Given the description of an element on the screen output the (x, y) to click on. 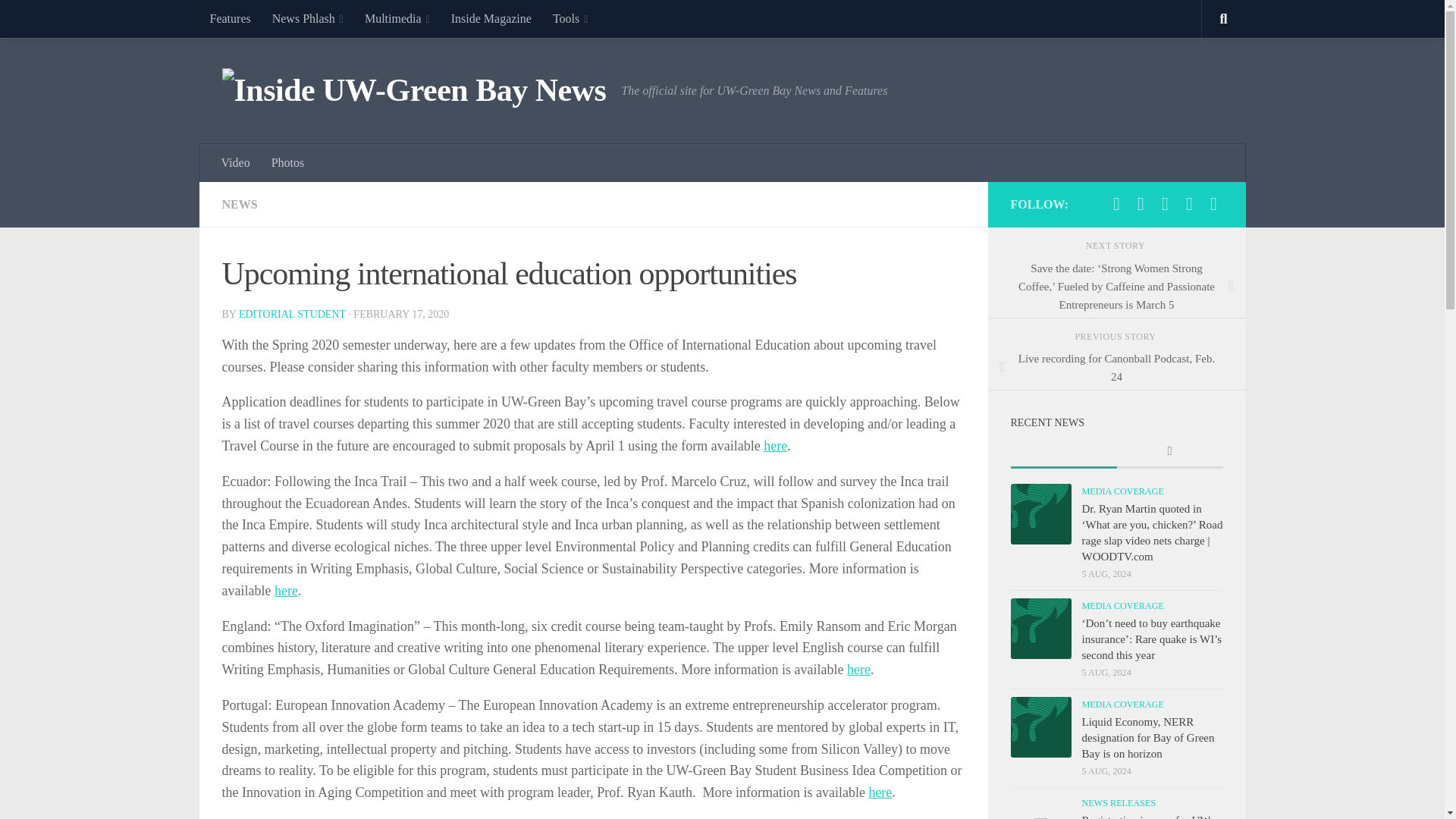
Features (229, 18)
Inside Magazine (491, 18)
Skip to content (59, 20)
Tools (569, 18)
News Phlash (307, 18)
Photos (287, 162)
here (879, 792)
NEWS (239, 204)
Multimedia (397, 18)
Video (235, 162)
